Given the description of an element on the screen output the (x, y) to click on. 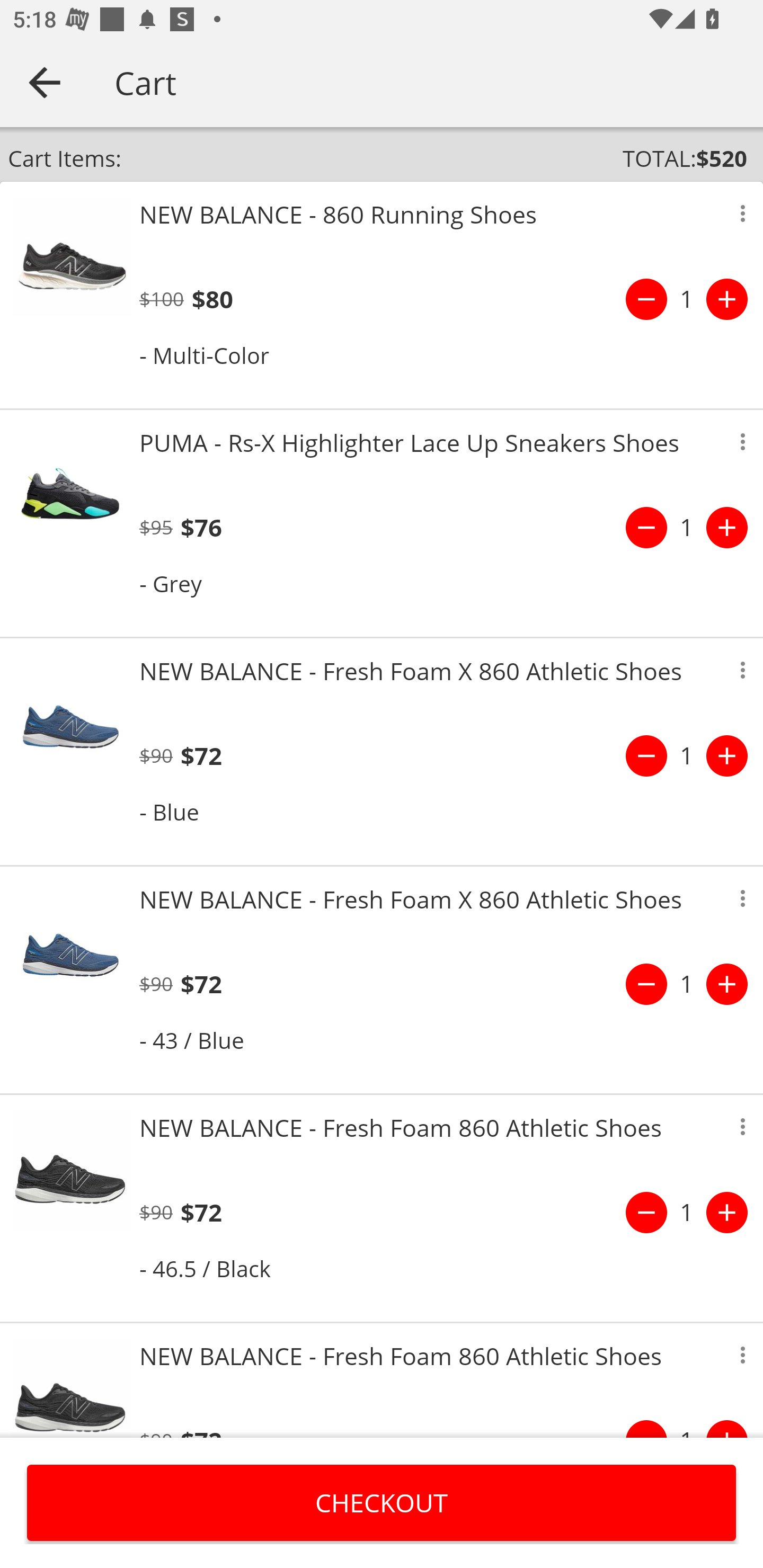
Navigate up (44, 82)
1 (686, 299)
1 (686, 527)
1 (686, 755)
1 (686, 984)
1 (686, 1211)
CHECKOUT (381, 1502)
